Given the description of an element on the screen output the (x, y) to click on. 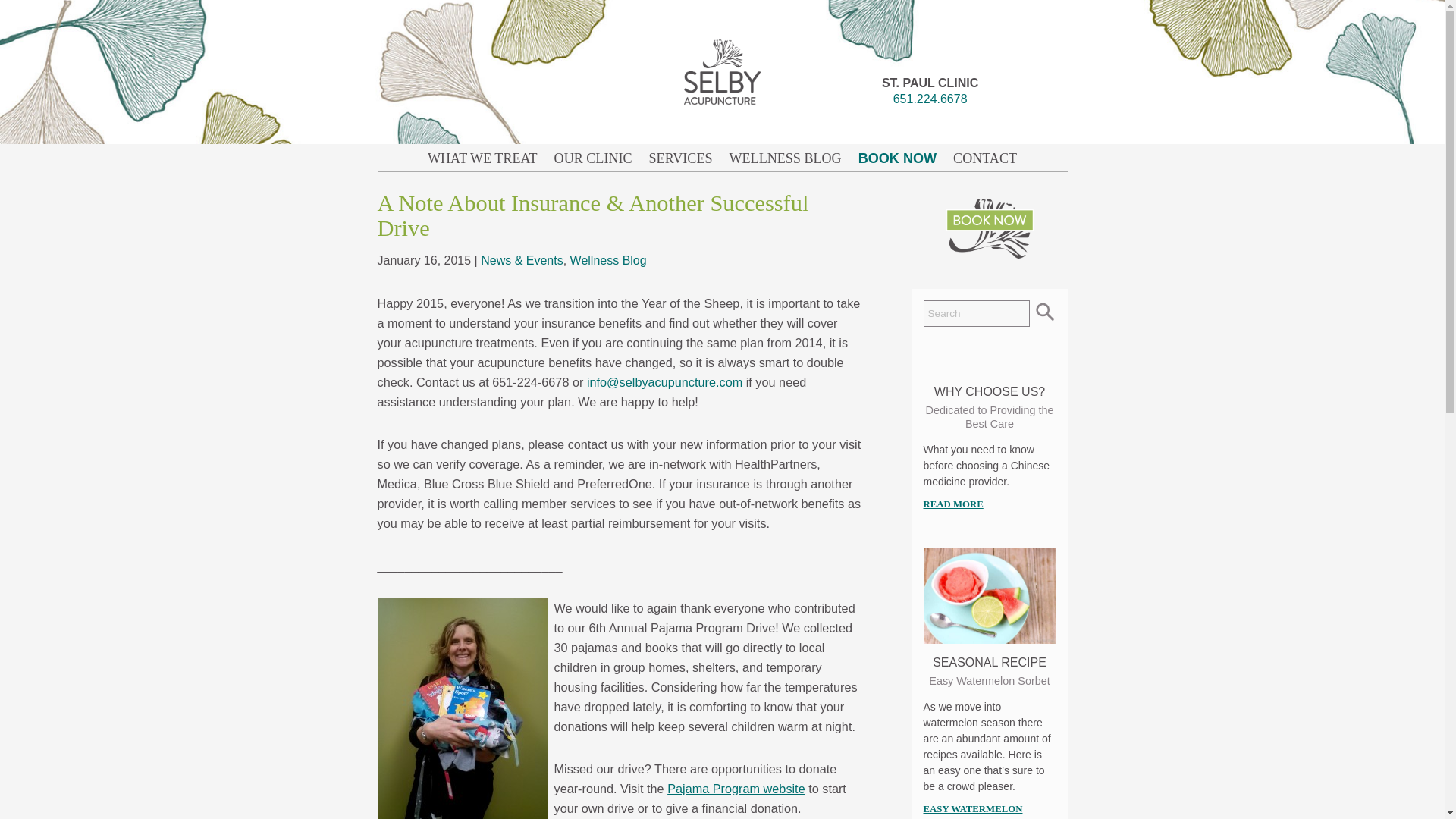
EMOTIONAL CARE (933, 440)
MASSAGE (933, 186)
RESOURCES (933, 722)
651.224.6678 (930, 98)
WHAT WE TREAT (482, 158)
FAQ (933, 662)
PRACTITIONERS (933, 601)
CAREERS (933, 752)
BOOK NOW (933, 126)
OUR CLINIC (933, 570)
ACUPUNCTURE (933, 156)
WHY CHOOSE US? (933, 631)
WHOLE SELF CARE (933, 500)
PAIN (933, 378)
FERTILITY (933, 287)
